Given the description of an element on the screen output the (x, y) to click on. 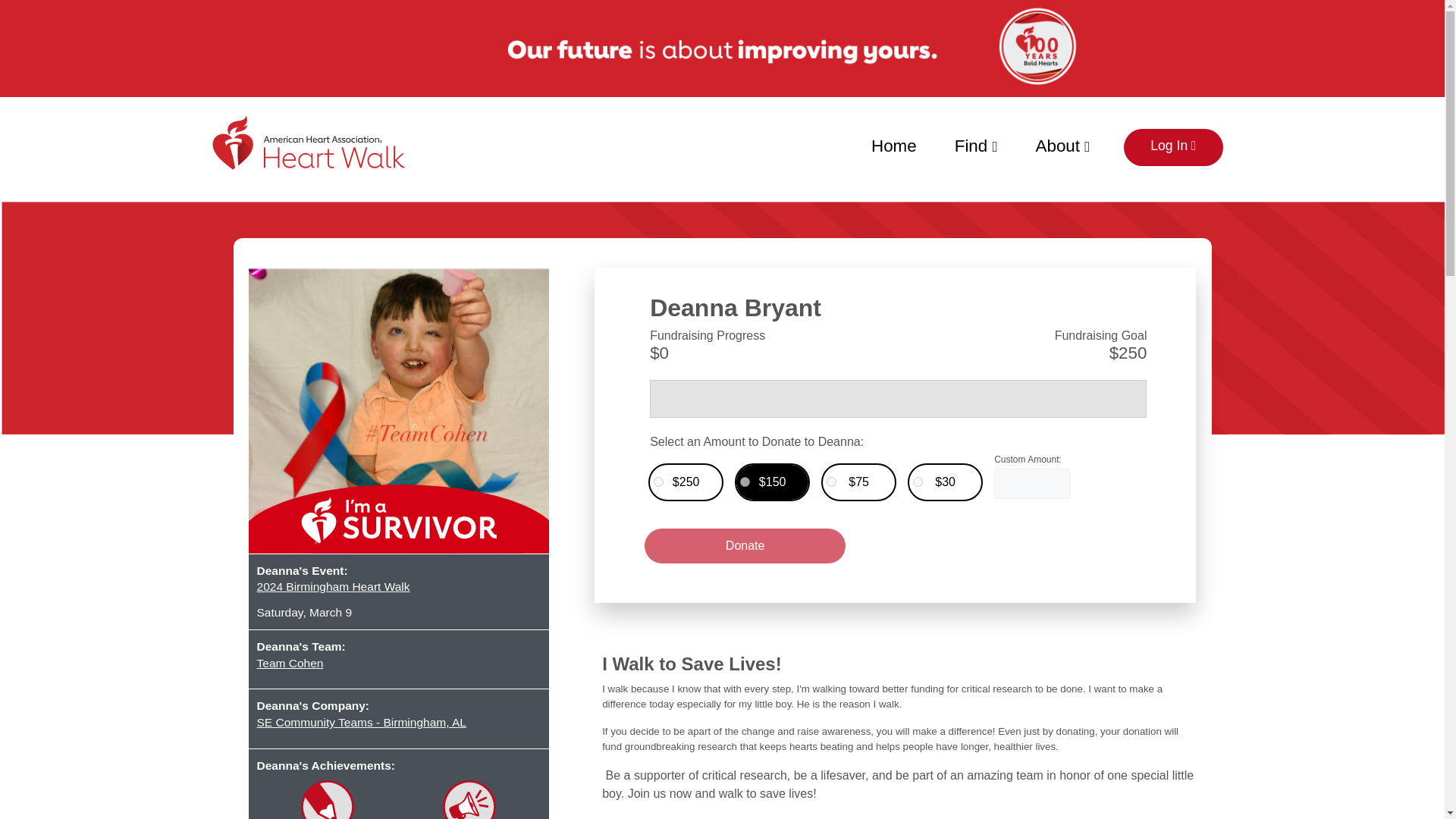
Donate (745, 545)
Find (976, 143)
8938 (917, 481)
I'm a HeartWalk Coach (469, 799)
I updated my fundraising page (327, 799)
2024 Birmingham Heart Walk (398, 586)
8944 (1016, 467)
8940 (744, 481)
Return to event page (320, 153)
Home (893, 143)
8941 (658, 481)
Team Cohen (398, 663)
About (1062, 143)
SE Community Teams - Birmingham, AL (398, 722)
Log In (1173, 146)
